Given the description of an element on the screen output the (x, y) to click on. 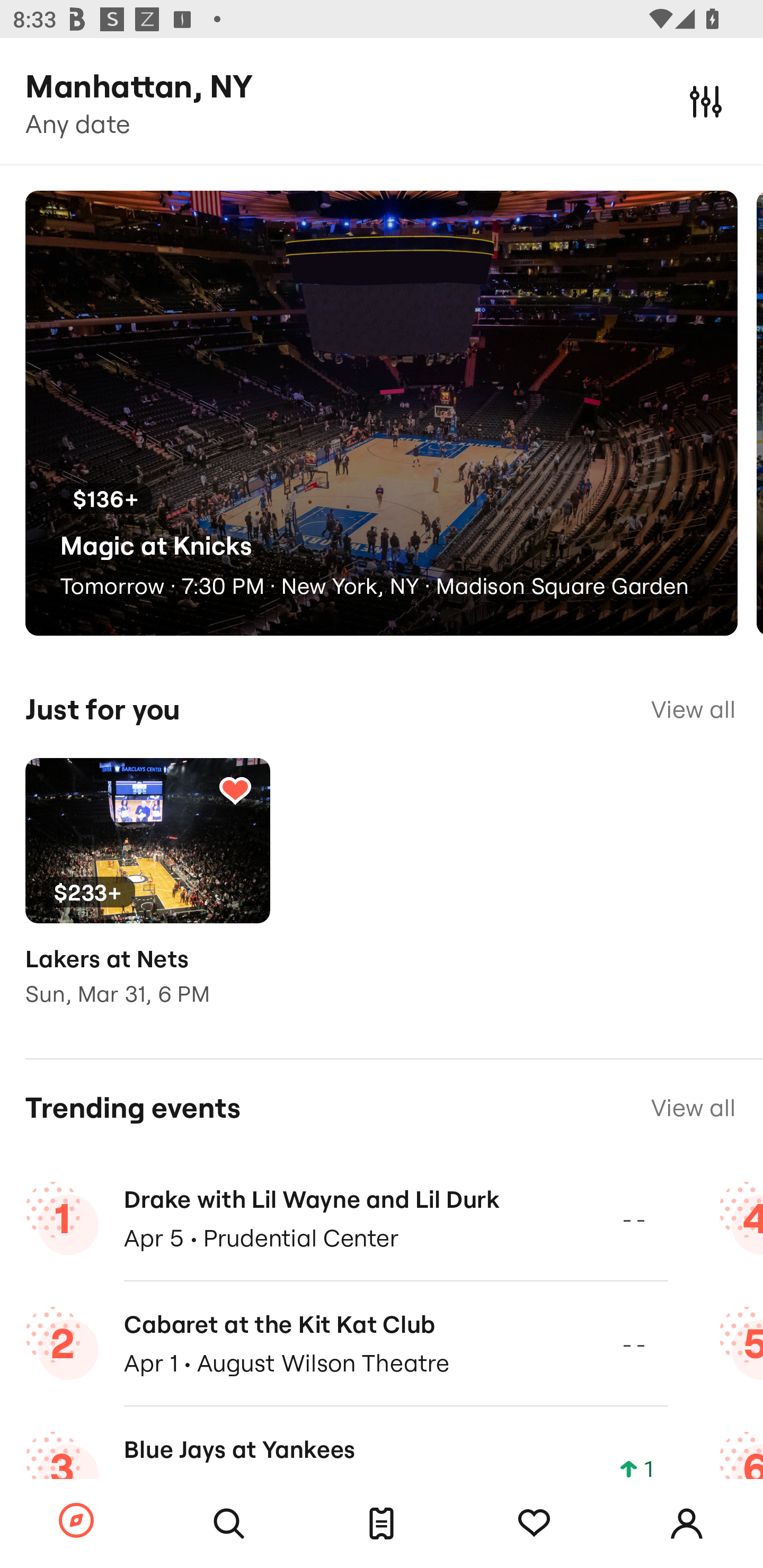
Filters (705, 100)
View all (693, 709)
Tracking $233+ Lakers at Nets Sun, Mar 31, 6 PM (147, 895)
Tracking (234, 790)
View all (693, 1108)
Browse (76, 1521)
Search (228, 1523)
Tickets (381, 1523)
Tracking (533, 1523)
Account (686, 1523)
